Given the description of an element on the screen output the (x, y) to click on. 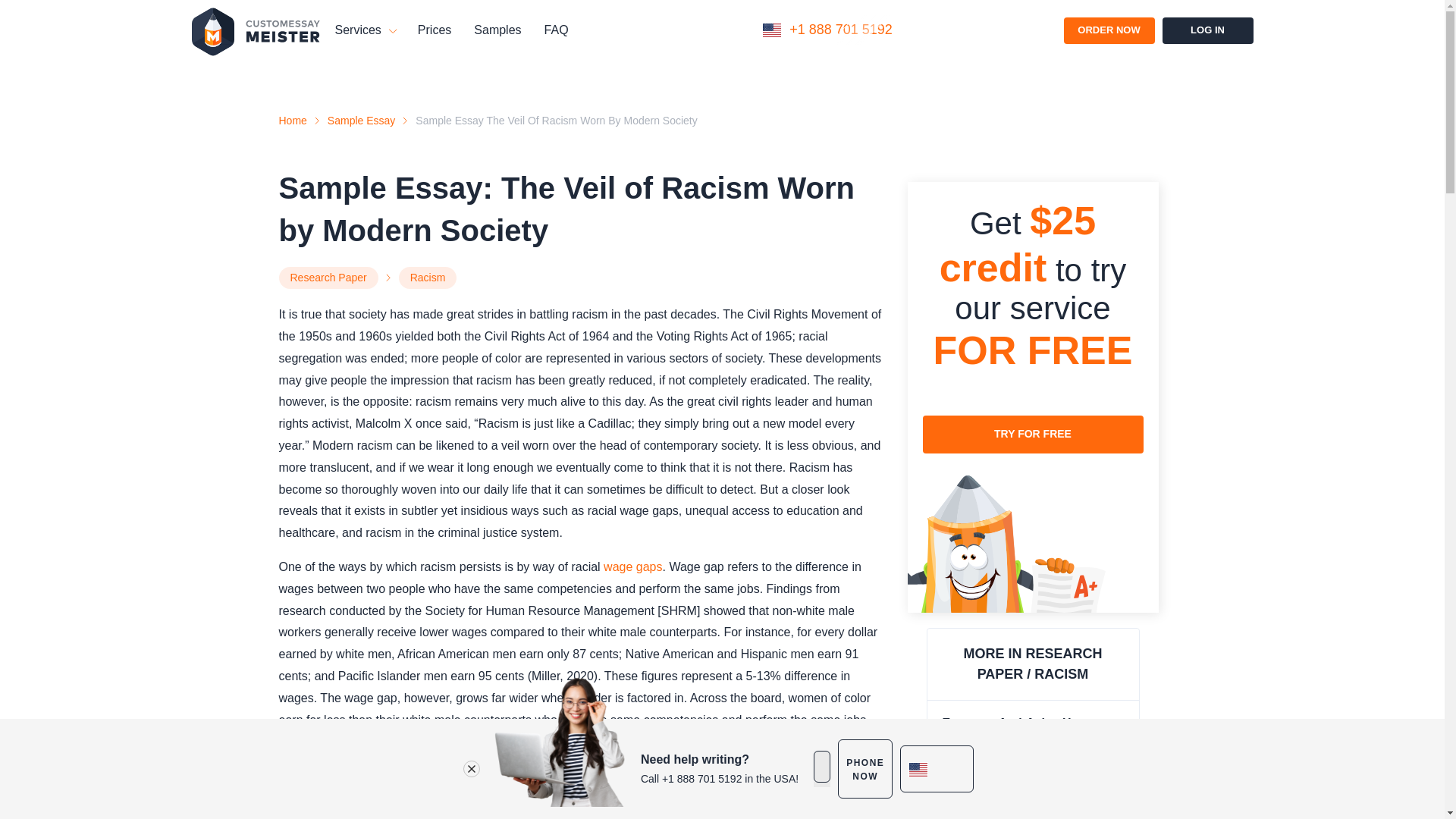
Samples (497, 30)
Home (293, 120)
ORDER NOW (1108, 29)
Prices (434, 30)
FAQ (556, 30)
LOG IN (1206, 29)
